Given the description of an element on the screen output the (x, y) to click on. 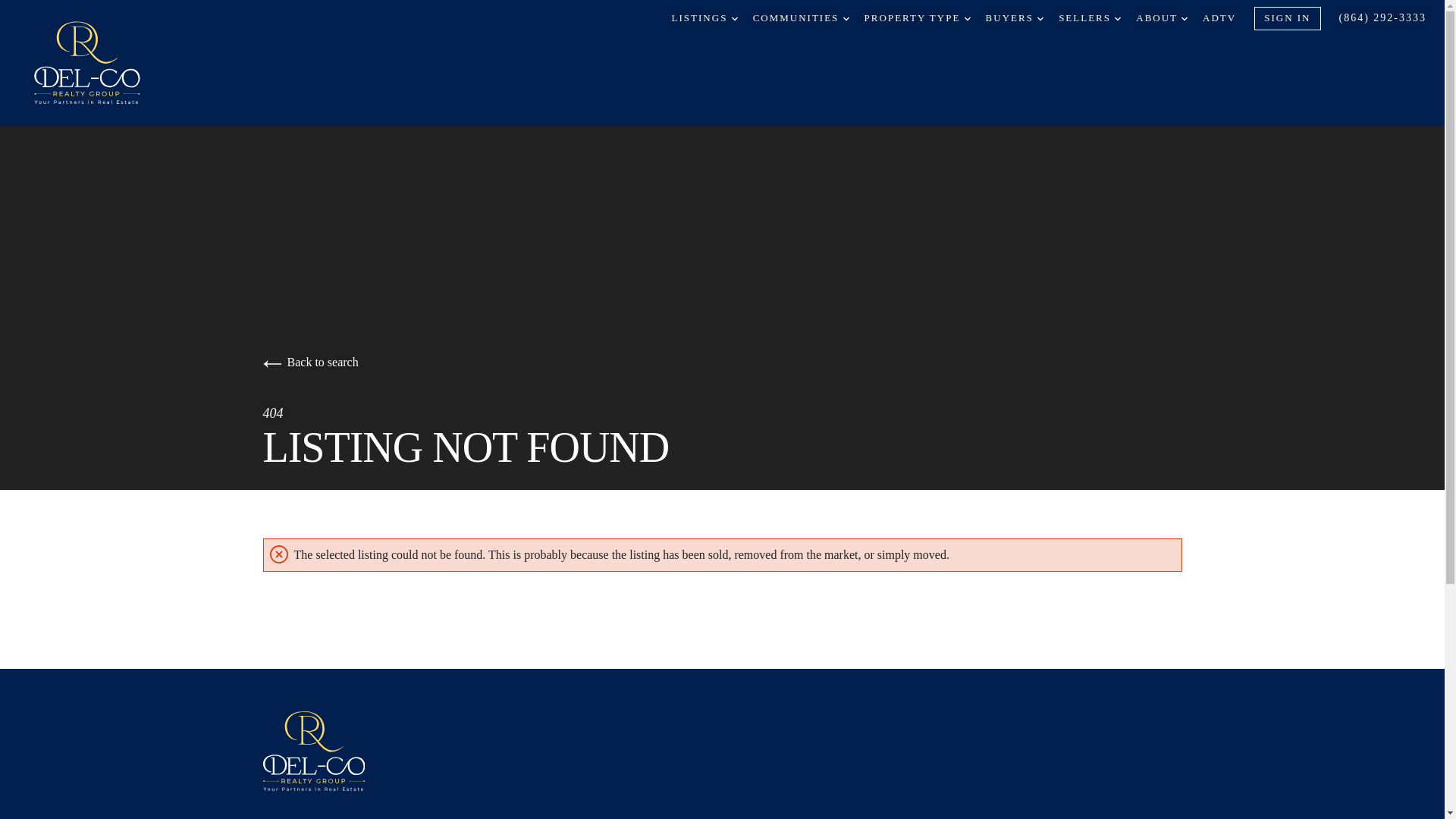
DROPDOWN ARROW (735, 18)
DROPDOWN ARROW (1184, 18)
DROPDOWN ARROW (1039, 18)
SELLERS DROPDOWN ARROW (1089, 18)
DROPDOWN ARROW (845, 18)
DROPDOWN ARROW (1118, 18)
BUYERS DROPDOWN ARROW (1014, 18)
DROPDOWN ARROW (967, 18)
PROPERTY TYPE DROPDOWN ARROW (917, 18)
ABOUT DROPDOWN ARROW (1161, 18)
LISTINGS DROPDOWN ARROW (704, 18)
COMMUNITIES DROPDOWN ARROW (800, 18)
